Given the description of an element on the screen output the (x, y) to click on. 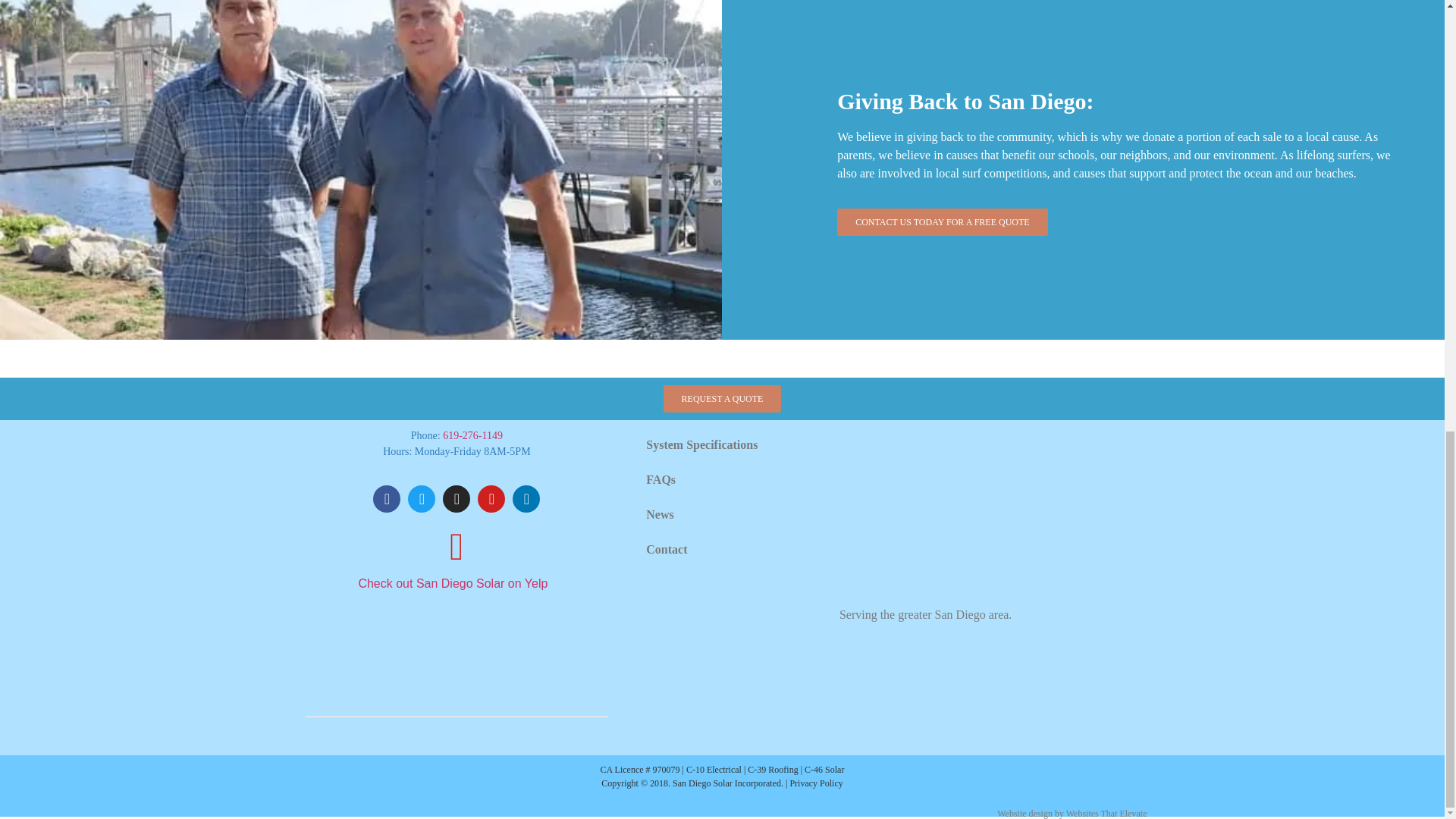
REQUEST A QUOTE (722, 398)
San Diego , California (993, 508)
CONTACT US TODAY FOR A FREE QUOTE (942, 221)
